Given the description of an element on the screen output the (x, y) to click on. 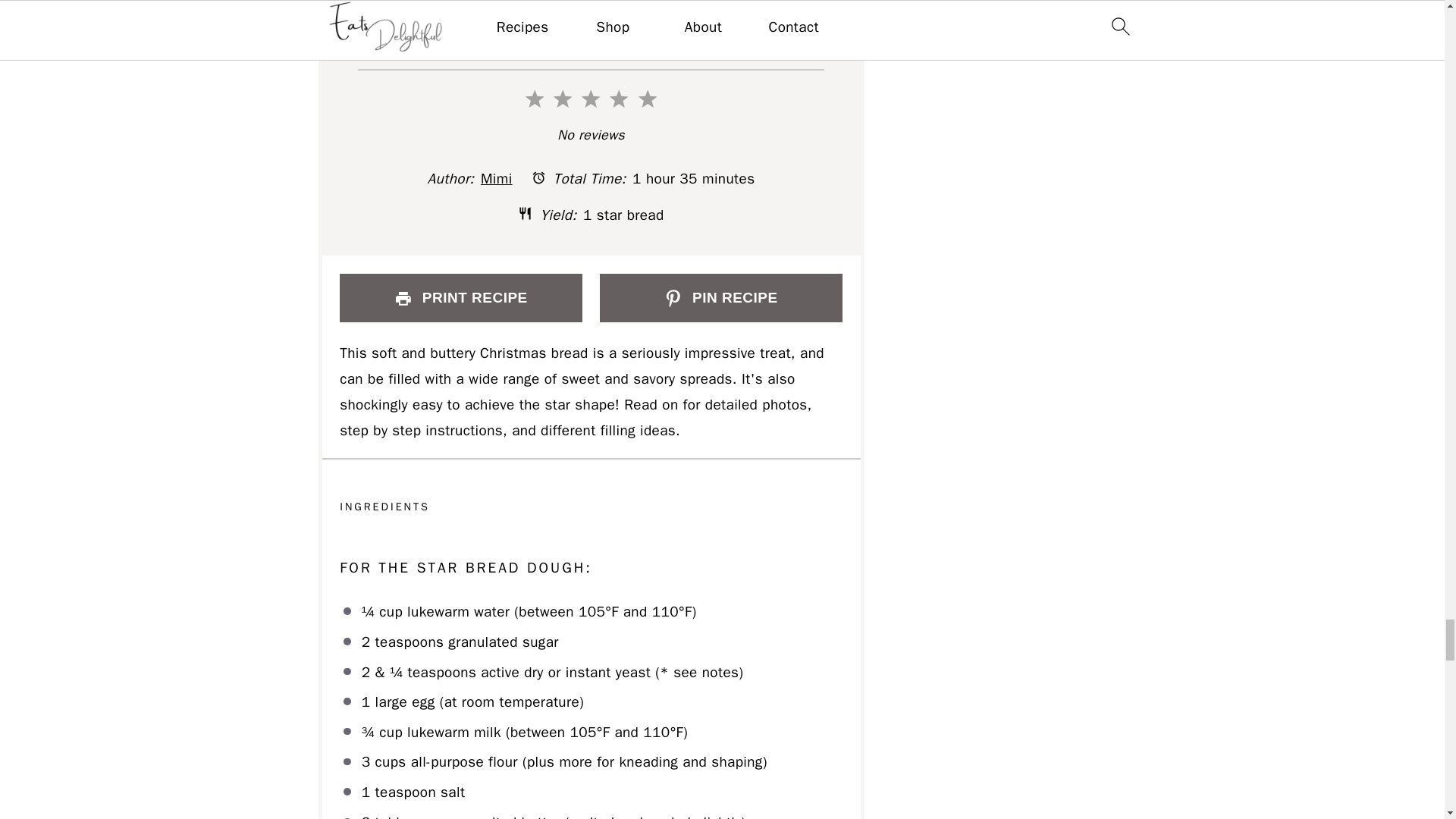
PIN RECIPE (720, 297)
PRINT RECIPE (459, 297)
Mimi (496, 178)
